Given the description of an element on the screen output the (x, y) to click on. 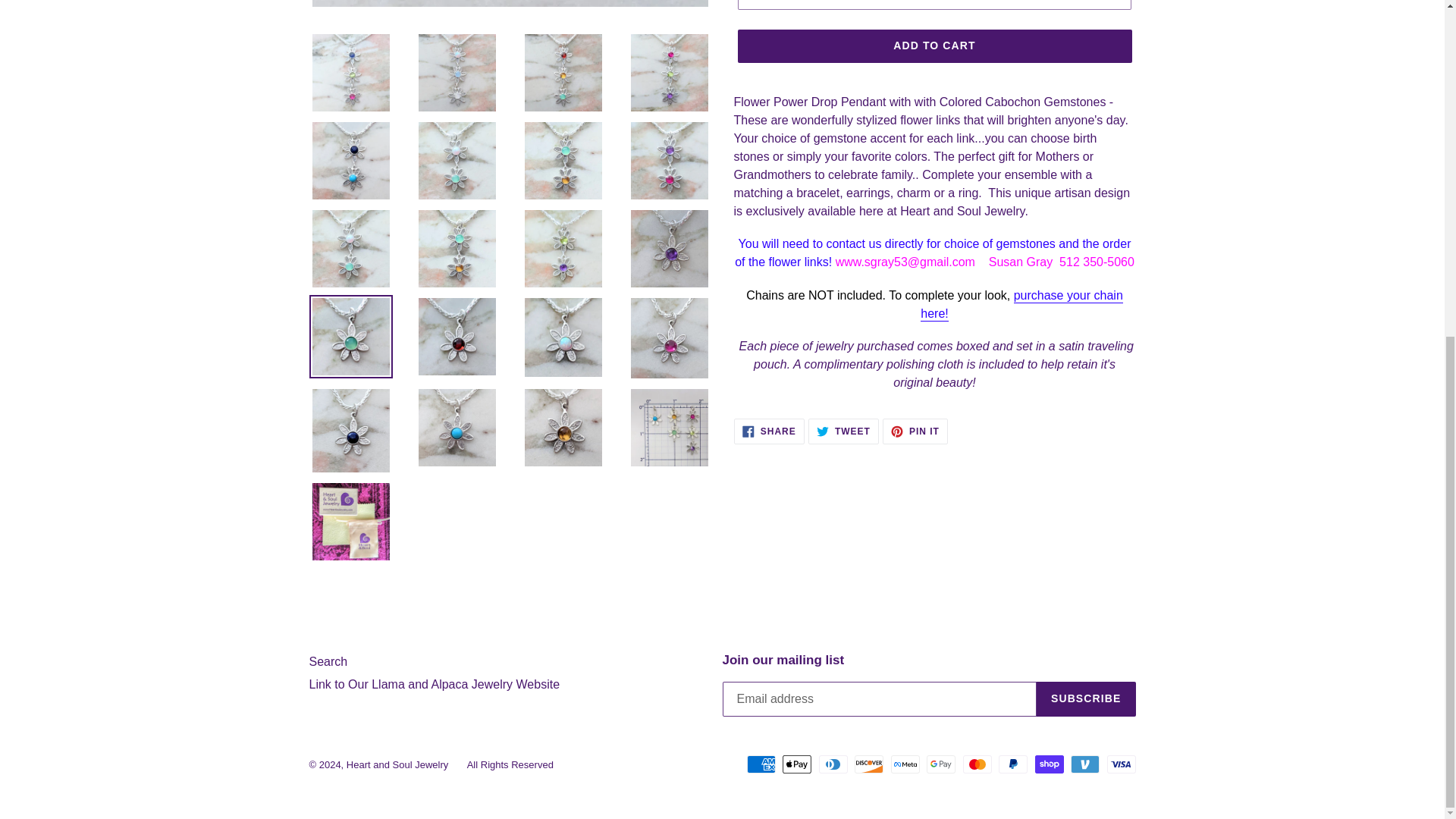
purchase your chain here (1021, 305)
